Given the description of an element on the screen output the (x, y) to click on. 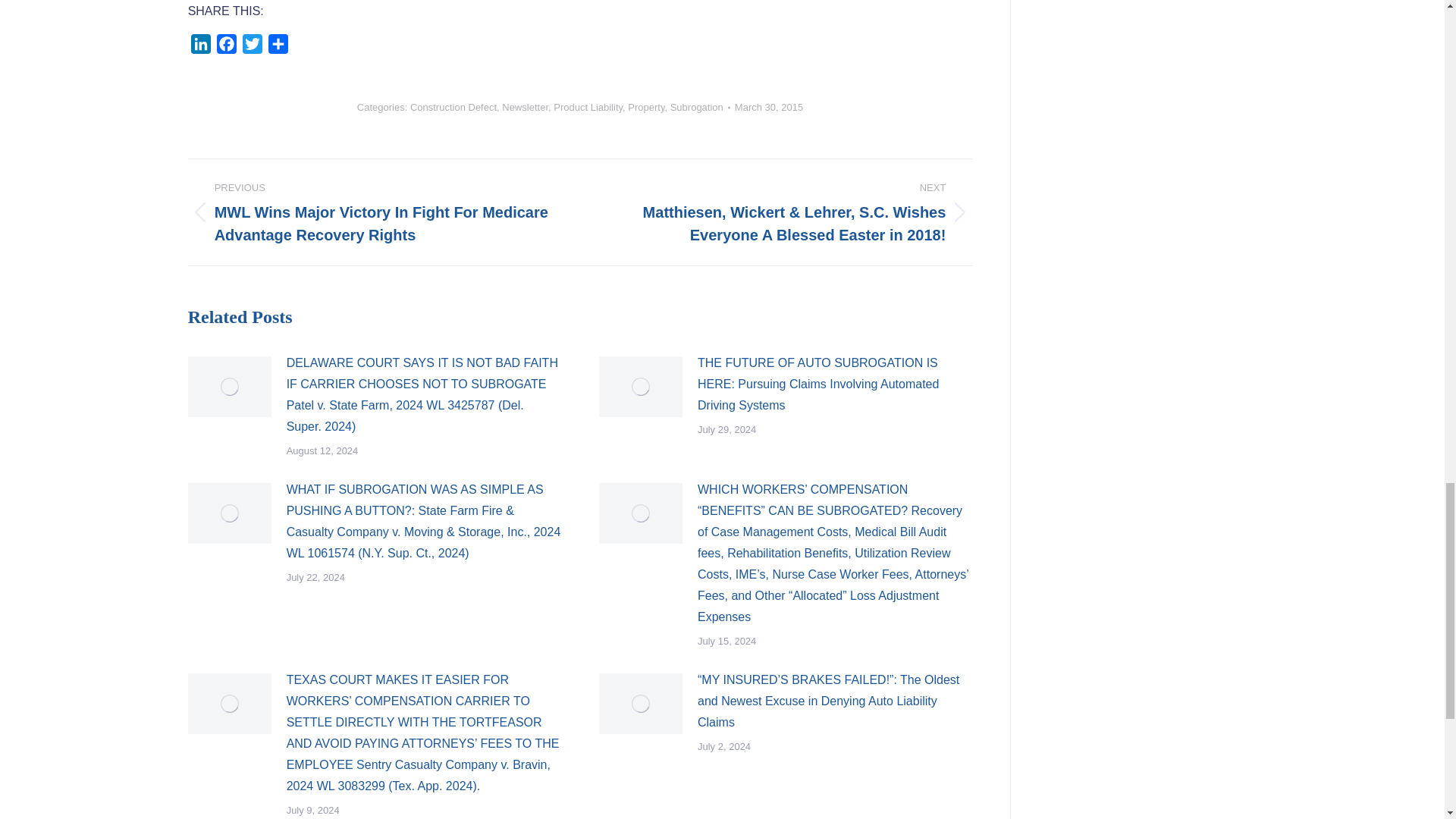
2:20 pm (769, 107)
Facebook (227, 46)
Twitter (252, 46)
LinkedIn (200, 46)
